Given the description of an element on the screen output the (x, y) to click on. 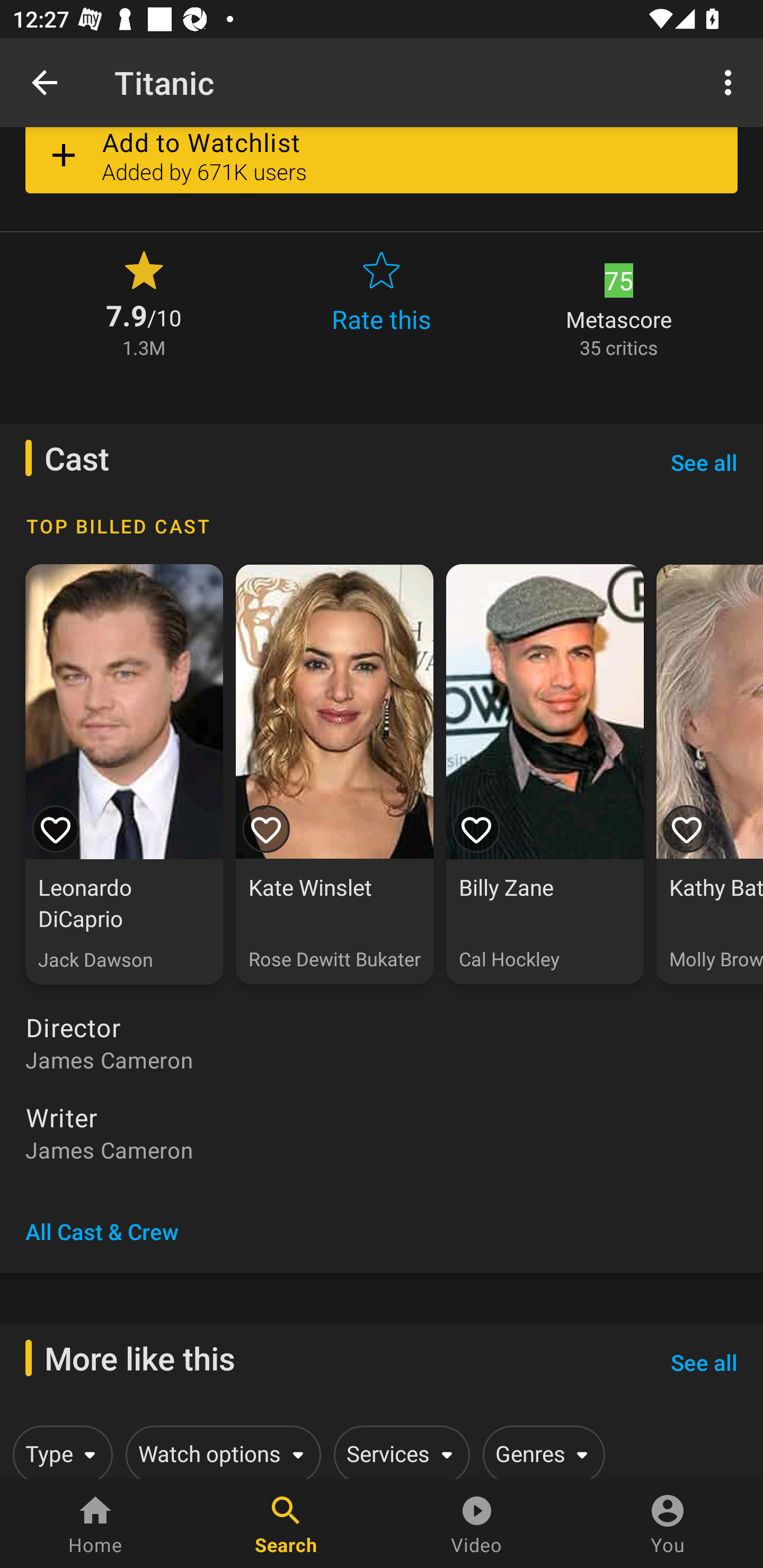
More options (731, 81)
Add to Watchlist Added by 671K users (381, 166)
7.9 /10 1.3M (143, 302)
Rate this (381, 302)
75 Metascore 35 critics (618, 302)
See all See all Cast (703, 462)
Leonardo DiCaprio Jack Dawson (123, 774)
Kate Winslet Rose Dewitt Bukater (334, 774)
Billy Zane Cal Hockley (544, 774)
James Cameron (381, 1059)
James Cameron (381, 1150)
All Cast & Crew (101, 1231)
See all See all More like this (703, 1362)
Type (59, 1451)
Watch options (219, 1451)
Services (398, 1451)
Genres (540, 1451)
Home (95, 1523)
Video (476, 1523)
You (667, 1523)
